Given the description of an element on the screen output the (x, y) to click on. 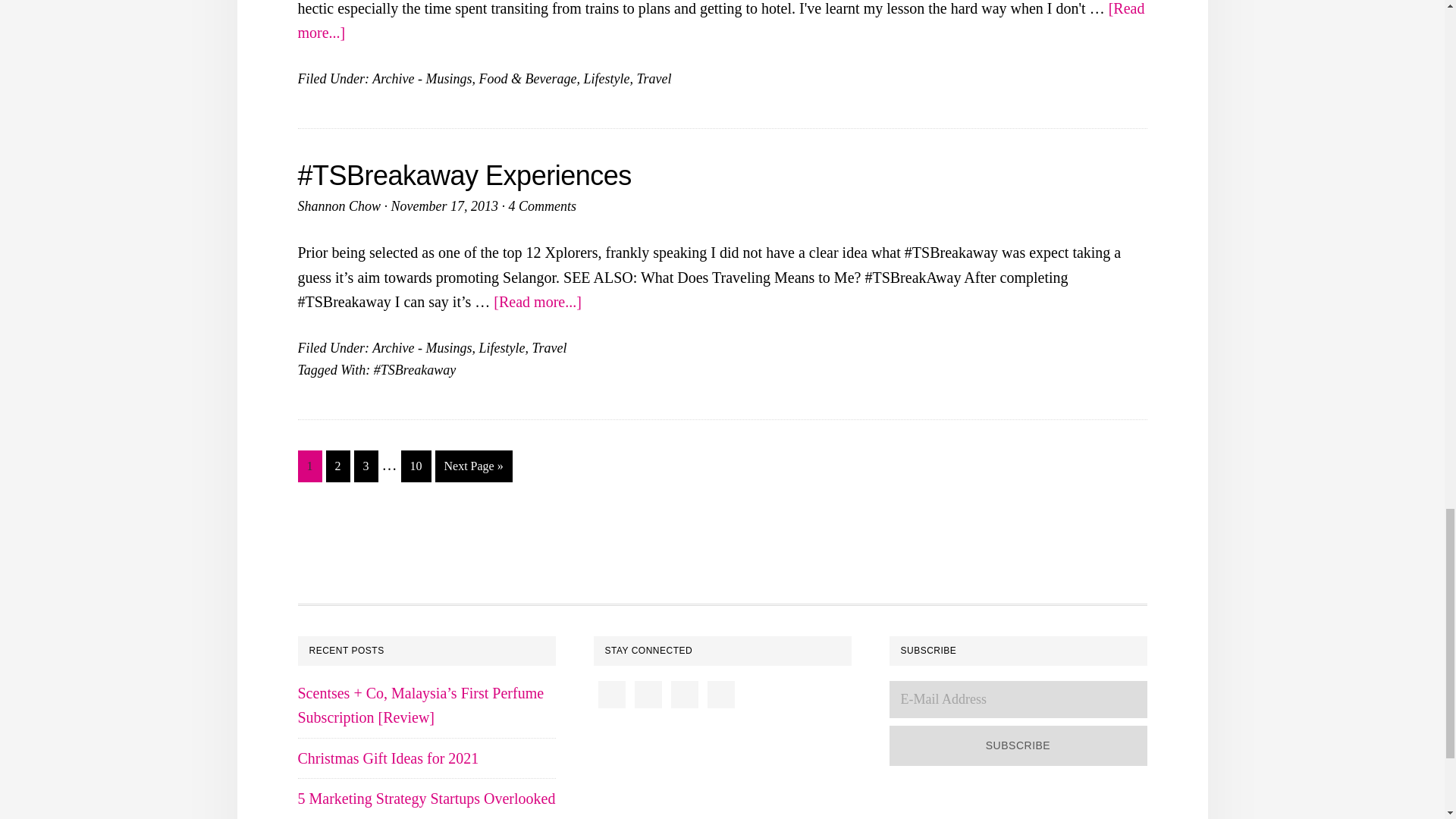
Subscribe (1017, 745)
Archive - Musings (421, 78)
